Given the description of an element on the screen output the (x, y) to click on. 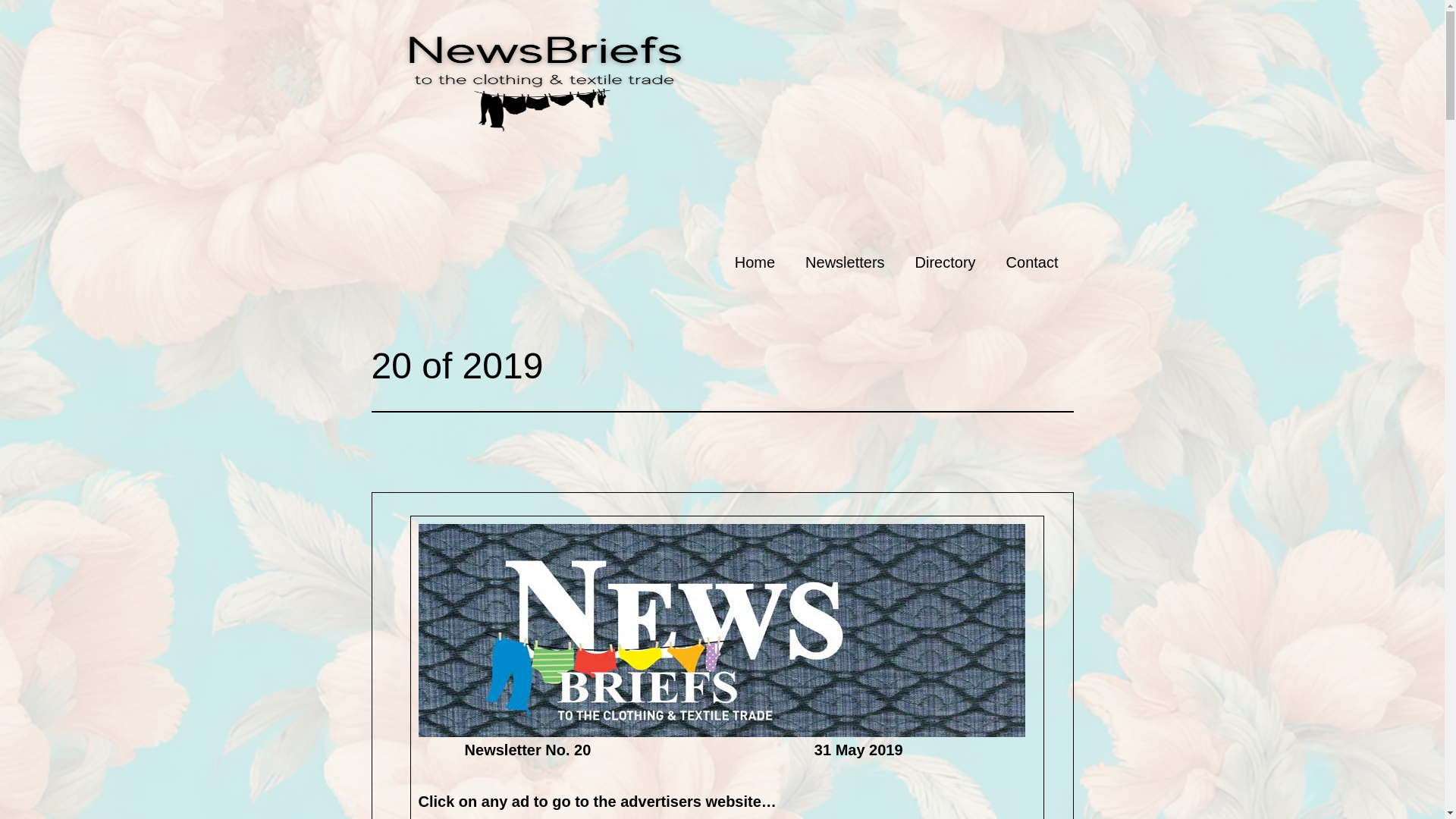
Contact (1032, 262)
Directory (945, 262)
Newsletters (844, 262)
Home (754, 262)
